Given the description of an element on the screen output the (x, y) to click on. 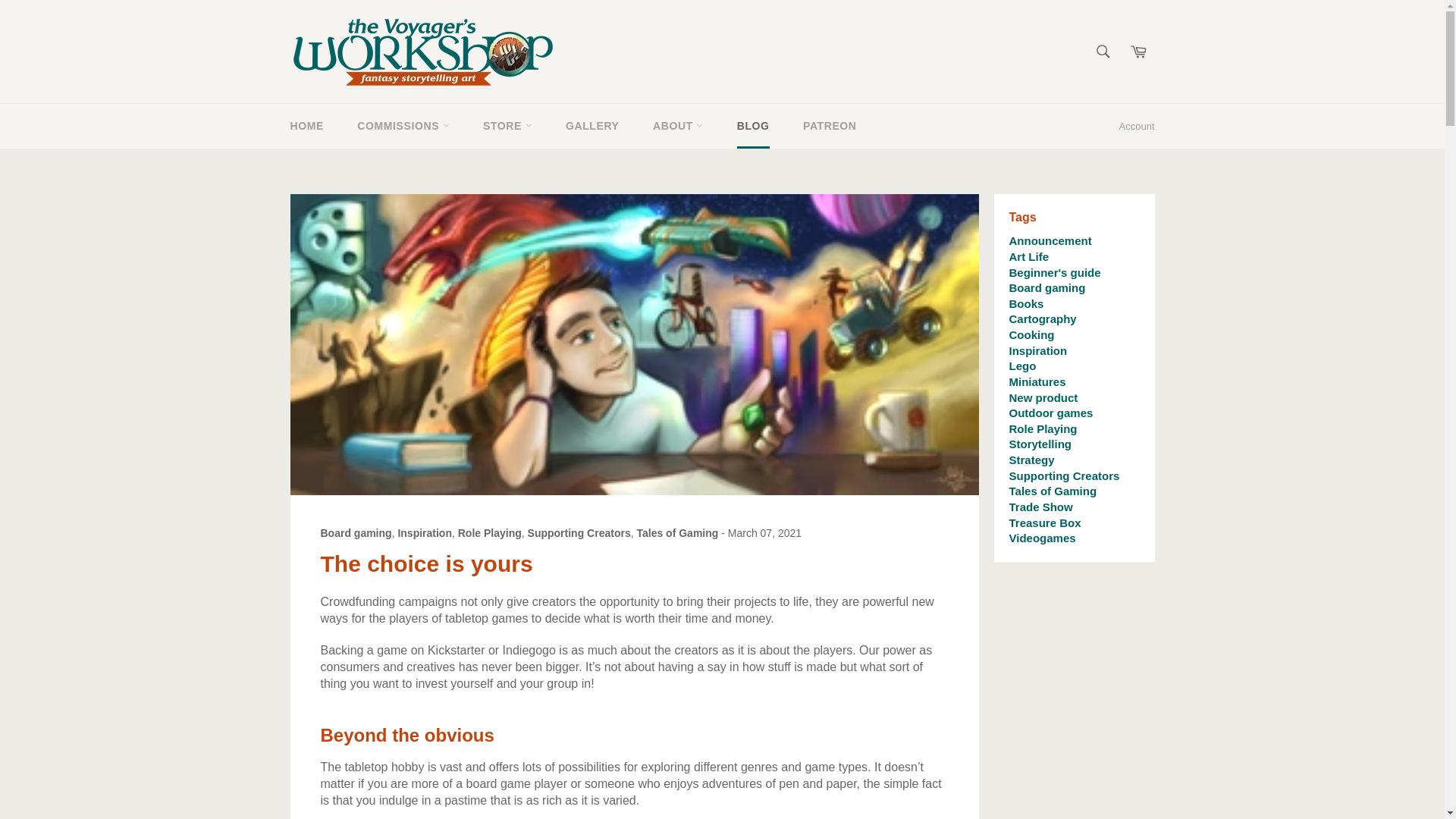
COMMISSIONS (403, 126)
STORE (507, 126)
Search (1103, 51)
Cart (1138, 51)
HOME (306, 126)
